Given the description of an element on the screen output the (x, y) to click on. 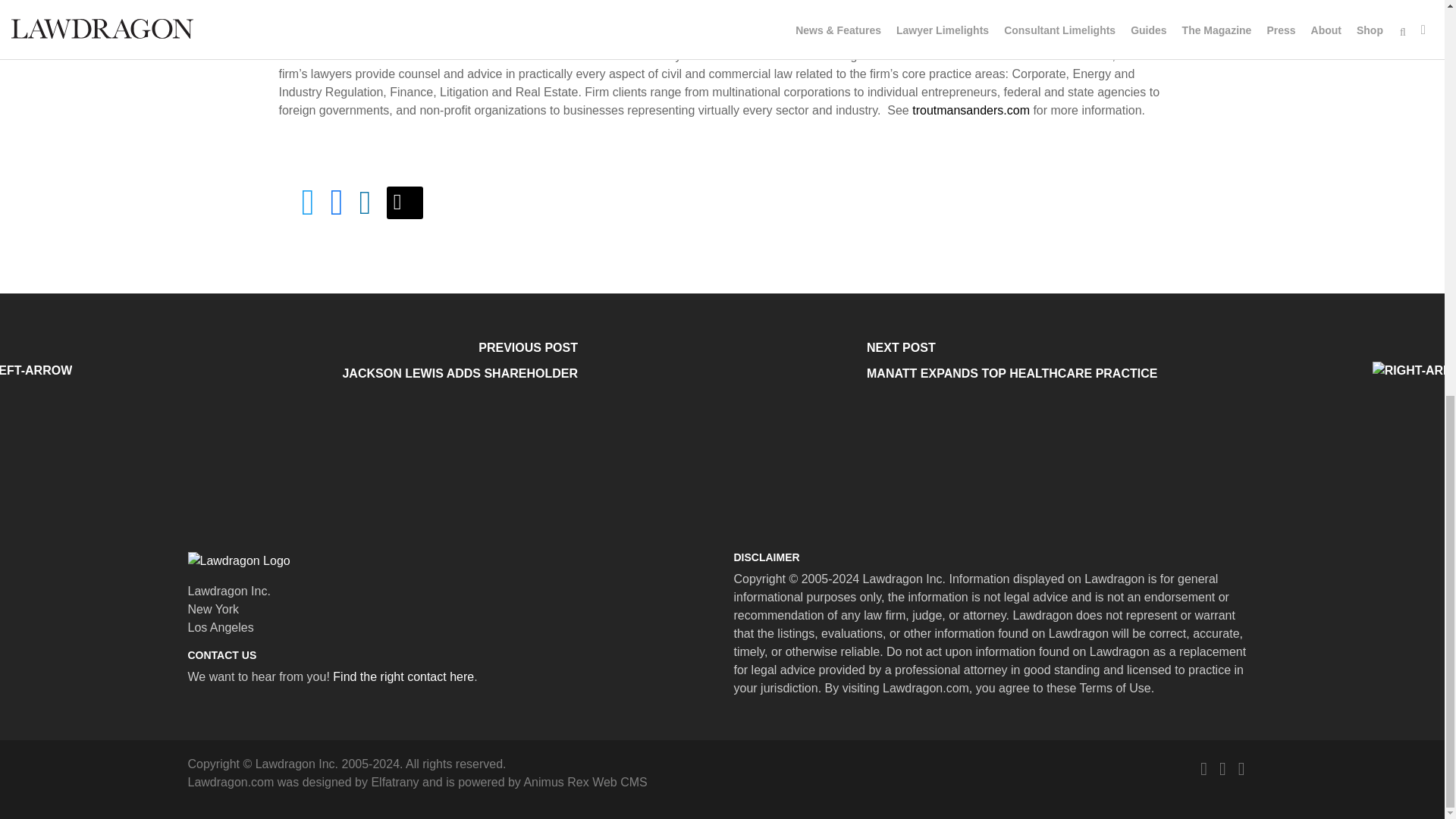
Facebook (1222, 768)
Find the right contact here (403, 676)
LinkedIn (1241, 768)
Elfatrany (395, 781)
troutmansanders.com (970, 110)
Animus Rex Web CMS (584, 781)
Twitter (1203, 768)
Email (405, 202)
